Given the description of an element on the screen output the (x, y) to click on. 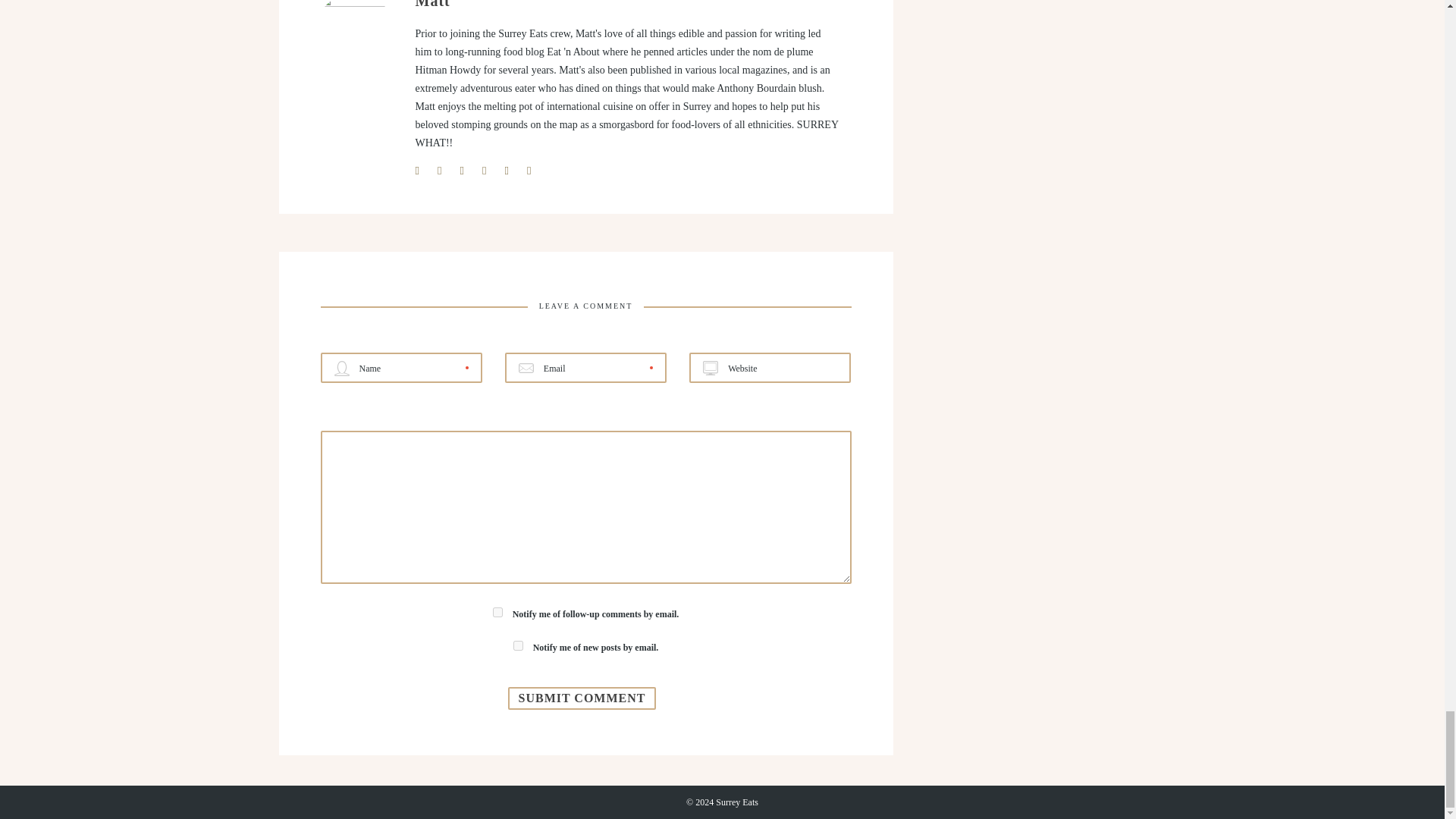
subscribe (517, 645)
Submit Comment (582, 698)
subscribe (497, 612)
